Given the description of an element on the screen output the (x, y) to click on. 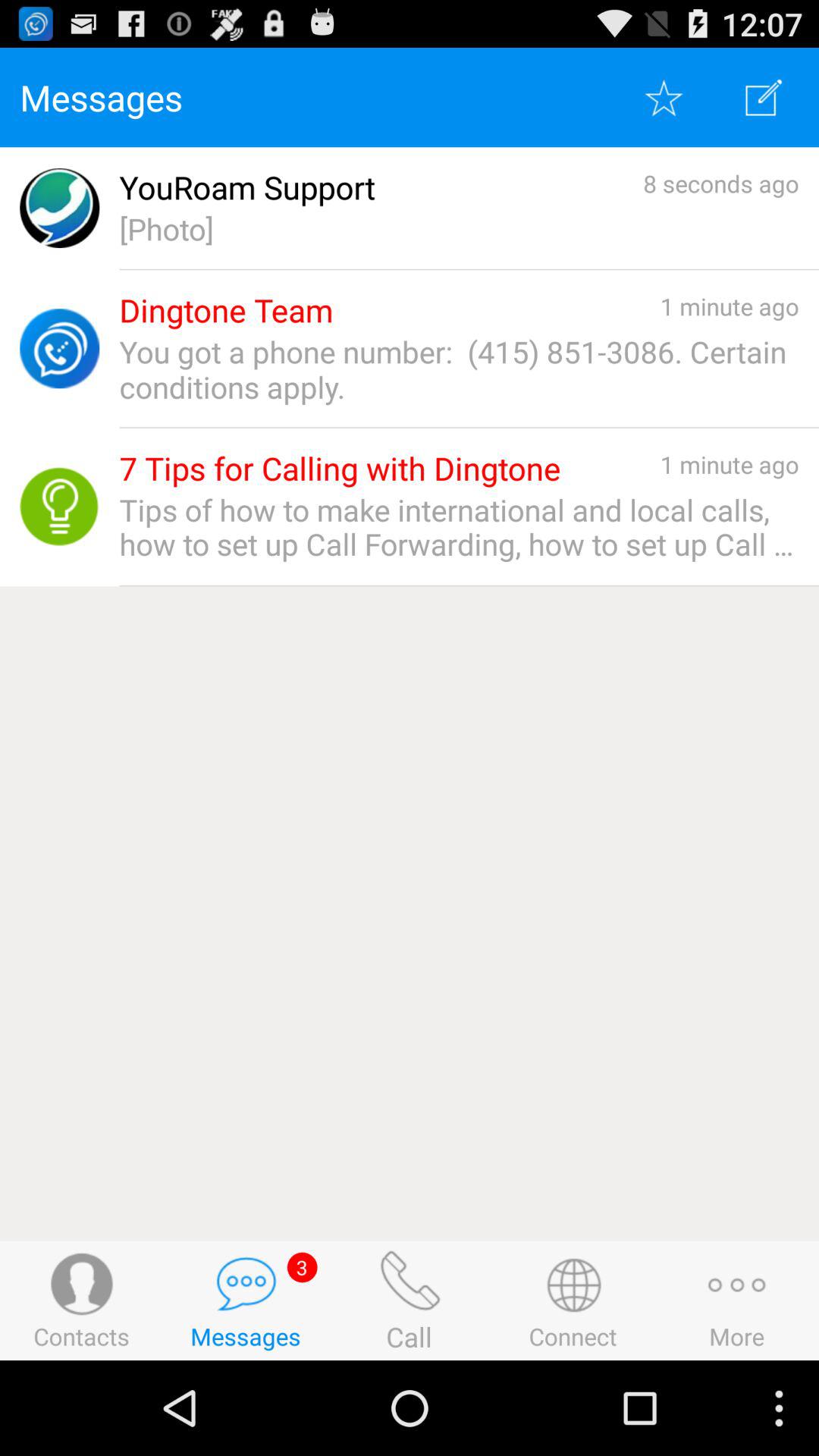
launch the app to the right of youroam support app (721, 183)
